Given the description of an element on the screen output the (x, y) to click on. 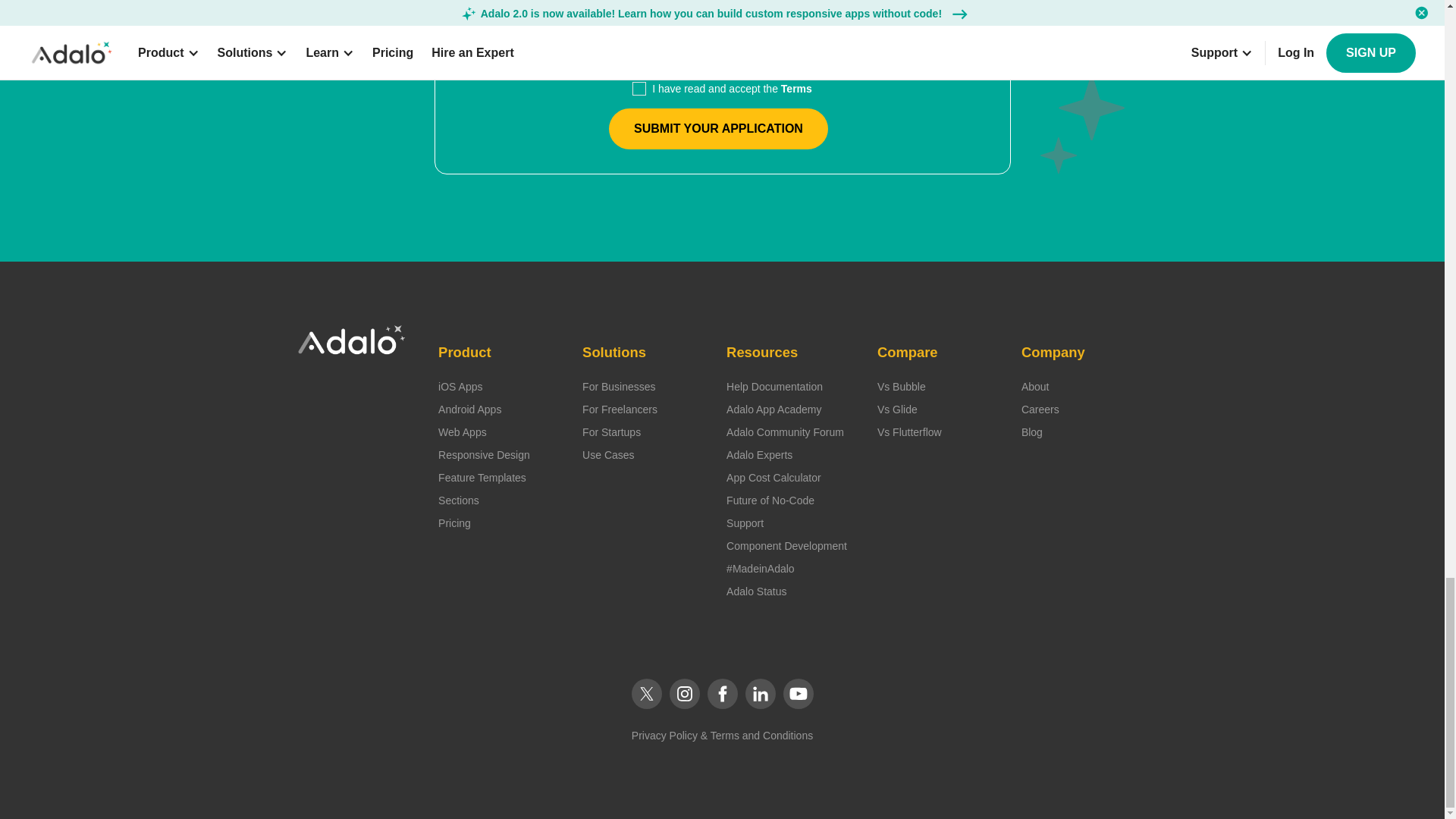
Terms (796, 88)
Submit your application (718, 128)
Submit your application (718, 128)
